Given the description of an element on the screen output the (x, y) to click on. 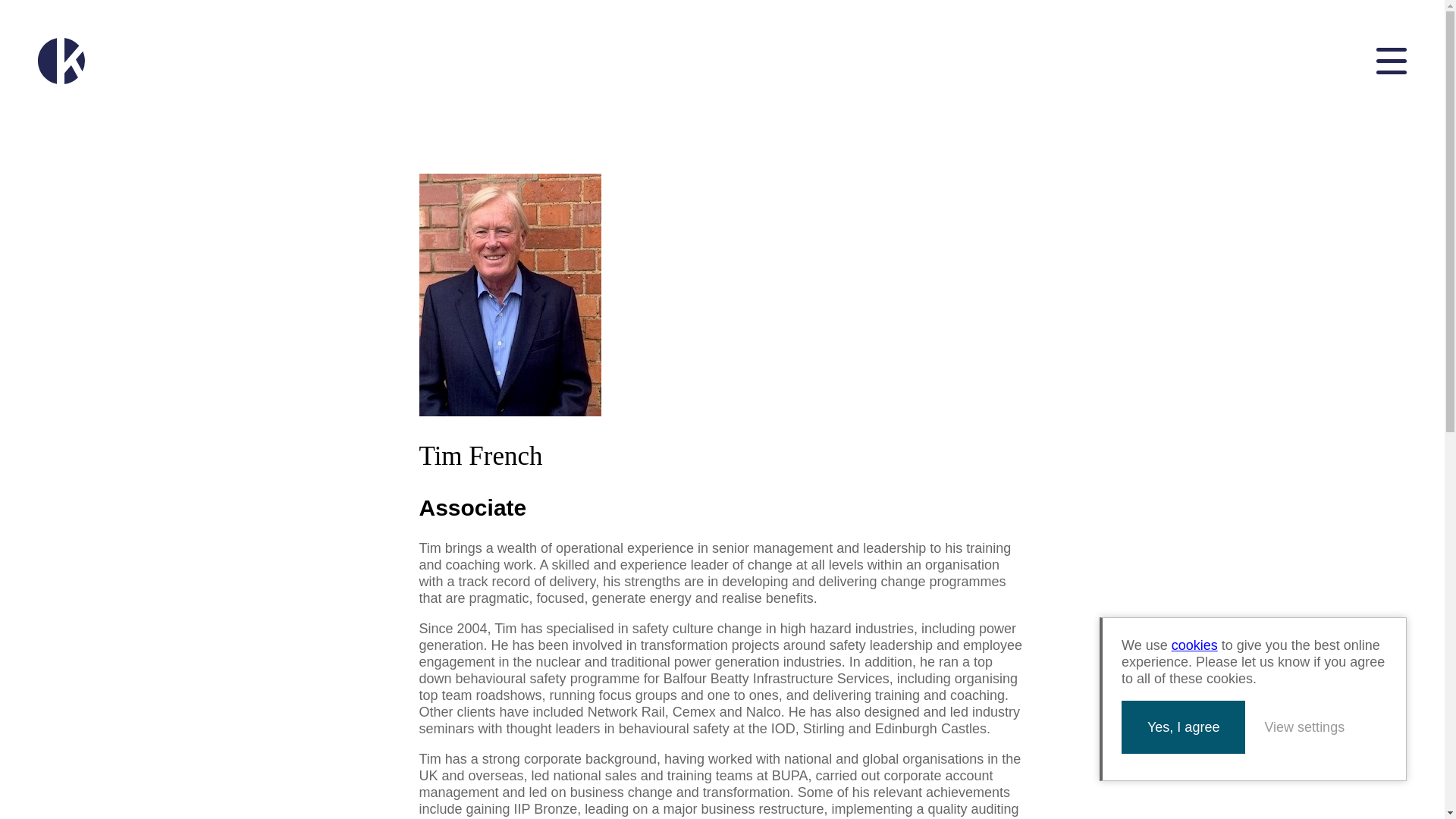
Keystone Training (60, 60)
